Given the description of an element on the screen output the (x, y) to click on. 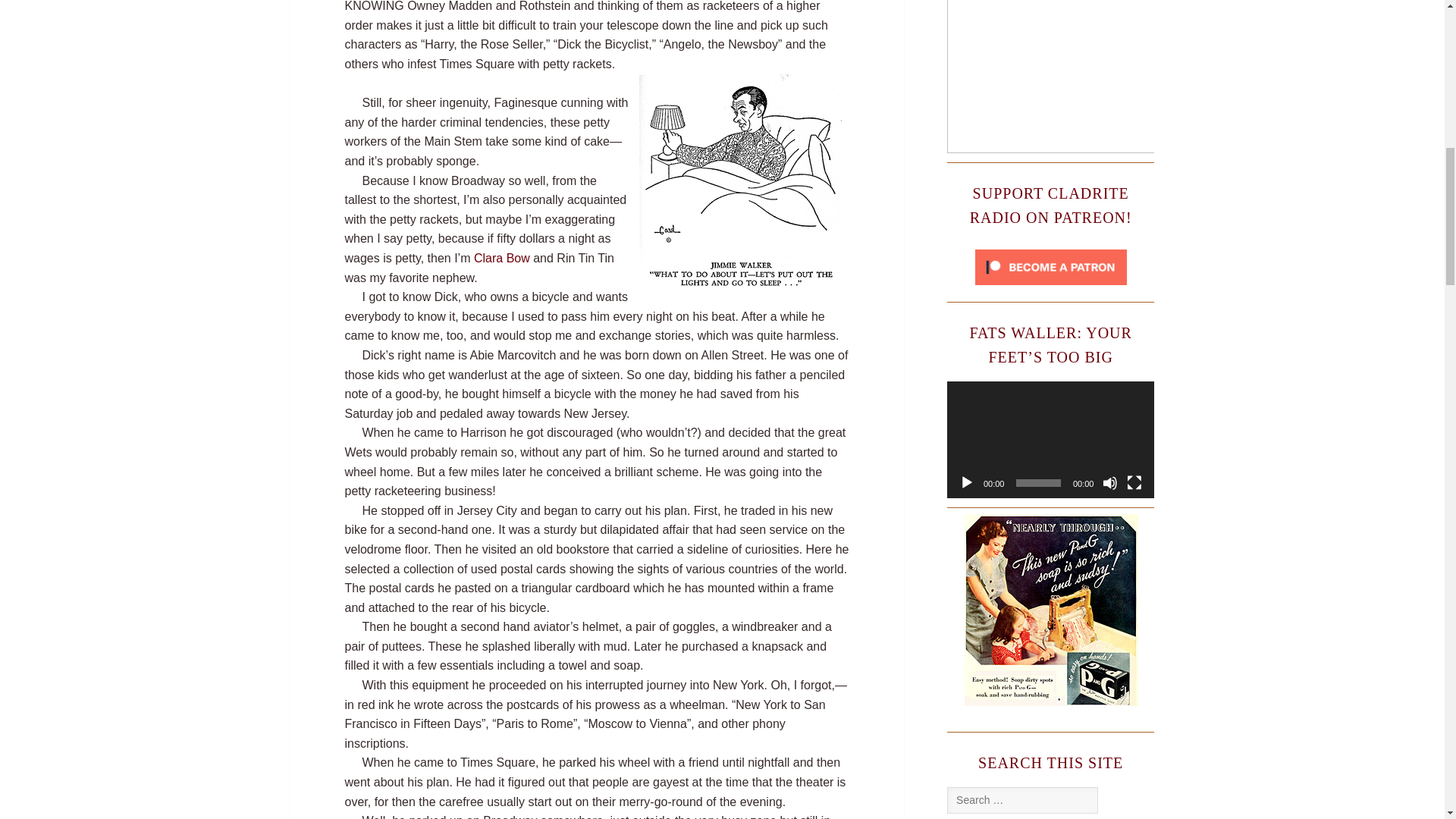
Fullscreen (1133, 482)
Clara Bow (501, 257)
Mute (1110, 482)
Play (966, 482)
